Given the description of an element on the screen output the (x, y) to click on. 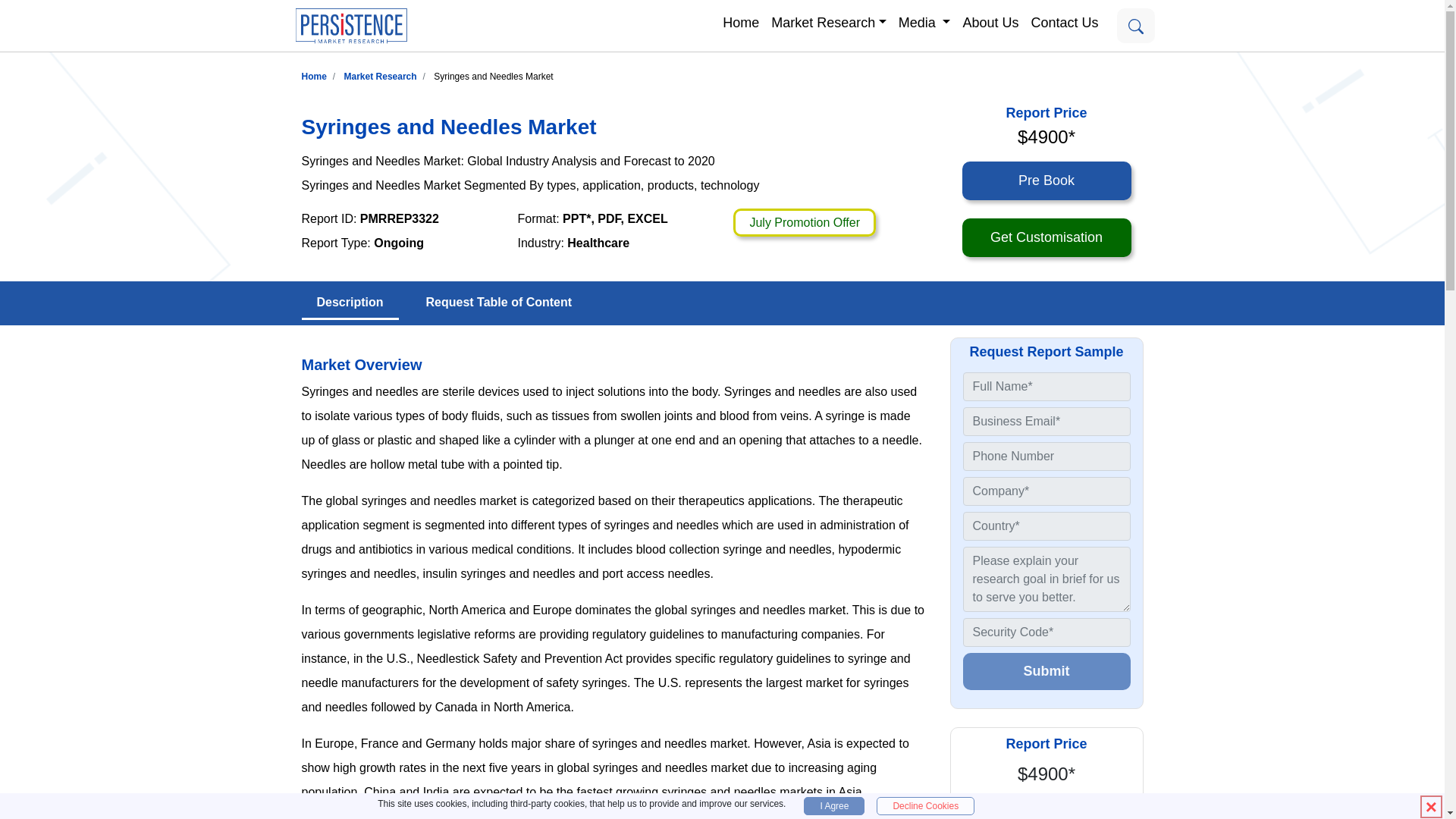
Persistence Market Report (313, 76)
About Us (990, 21)
Pre Book (1045, 180)
Media (924, 21)
Description (349, 303)
Persistence Market Research Company (349, 25)
Contact Us (1064, 21)
Pre Book (1046, 809)
About Us (990, 21)
Contact Us (1064, 21)
Home (740, 21)
Search (1135, 25)
Market Research (828, 21)
Request Discount (804, 222)
Market Research (379, 76)
